Given the description of an element on the screen output the (x, y) to click on. 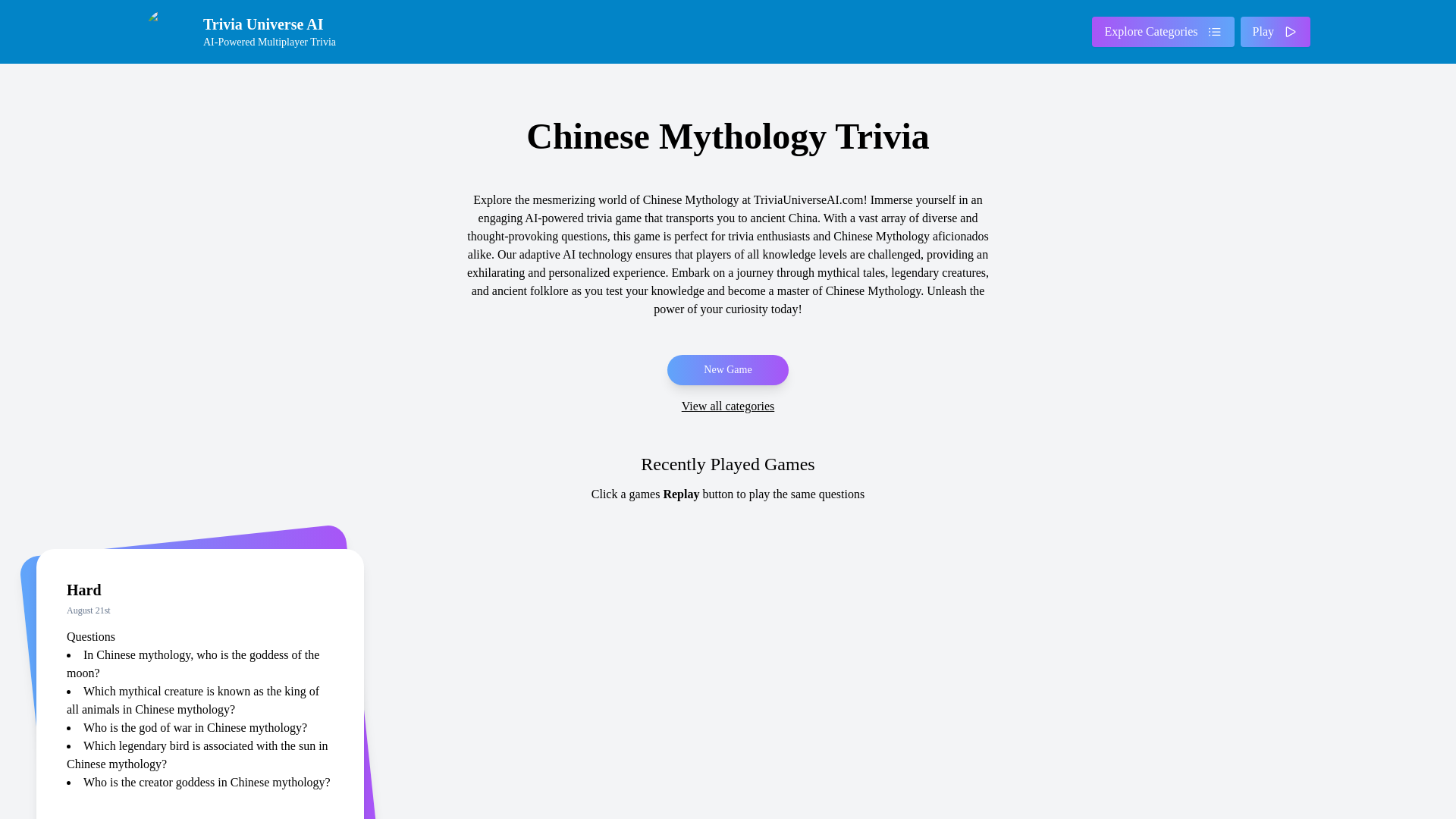
Play (1275, 31)
View all categories (727, 406)
New Game (726, 369)
Explore Categories (246, 31)
